Given the description of an element on the screen output the (x, y) to click on. 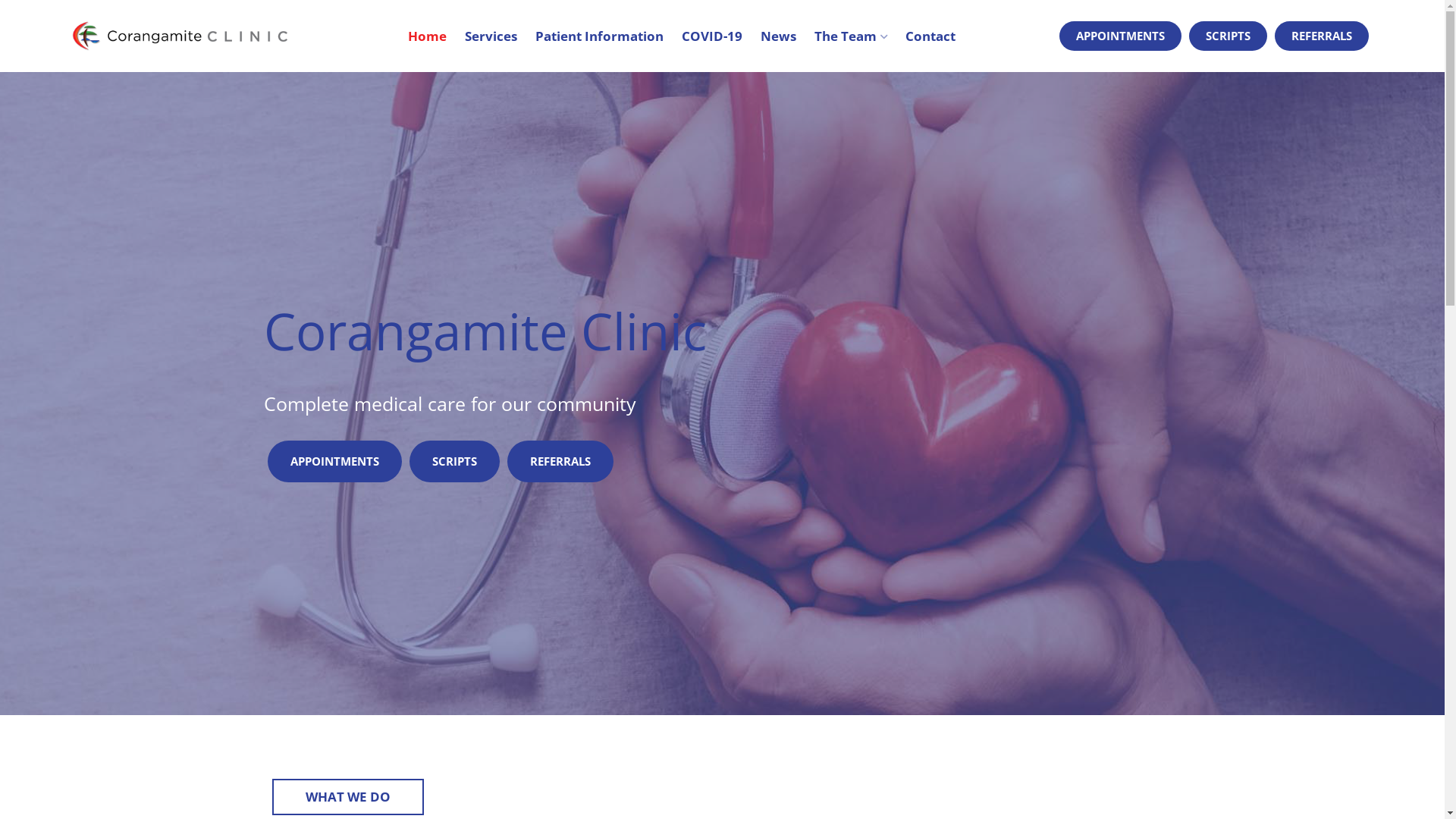
REFERRALS Element type: text (1321, 35)
APPOINTMENTS Element type: text (1120, 35)
Contact Element type: text (930, 35)
Home Element type: text (427, 35)
SCRIPTS Element type: text (454, 461)
SCRIPTS Element type: text (1228, 35)
News Element type: text (778, 35)
COVID-19 Element type: text (711, 35)
APPOINTMENTS Element type: text (333, 461)
The Team Element type: text (850, 35)
Services Element type: text (490, 35)
REFERRALS Element type: text (559, 461)
Patient Information Element type: text (599, 35)
